Given the description of an element on the screen output the (x, y) to click on. 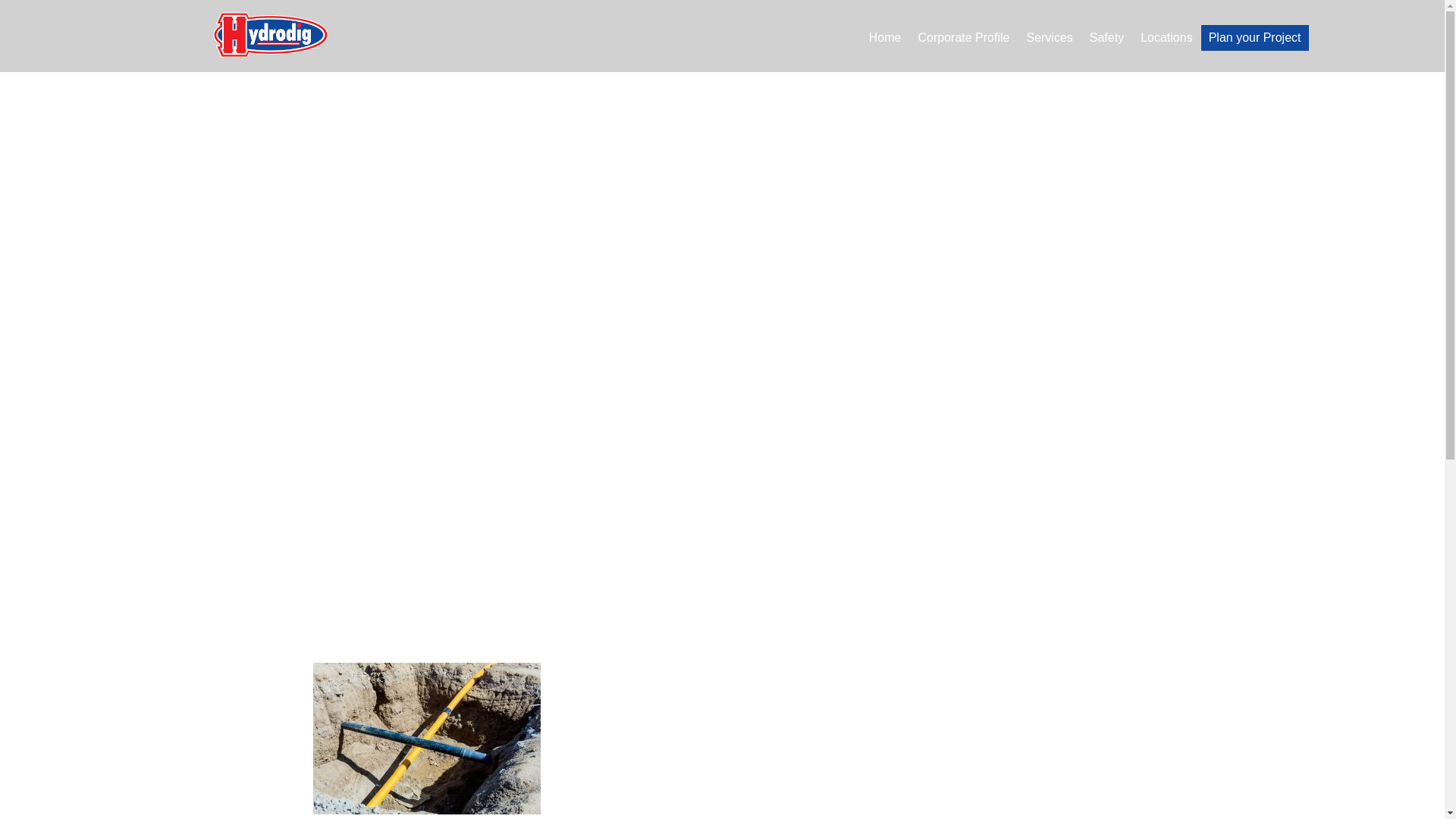
Locations (1166, 41)
Services (1048, 41)
Corporate Profile (963, 41)
Safety (1106, 41)
Home (885, 41)
Plan your Project (1254, 37)
HYDRODIG-LOGO (270, 34)
